Given the description of an element on the screen output the (x, y) to click on. 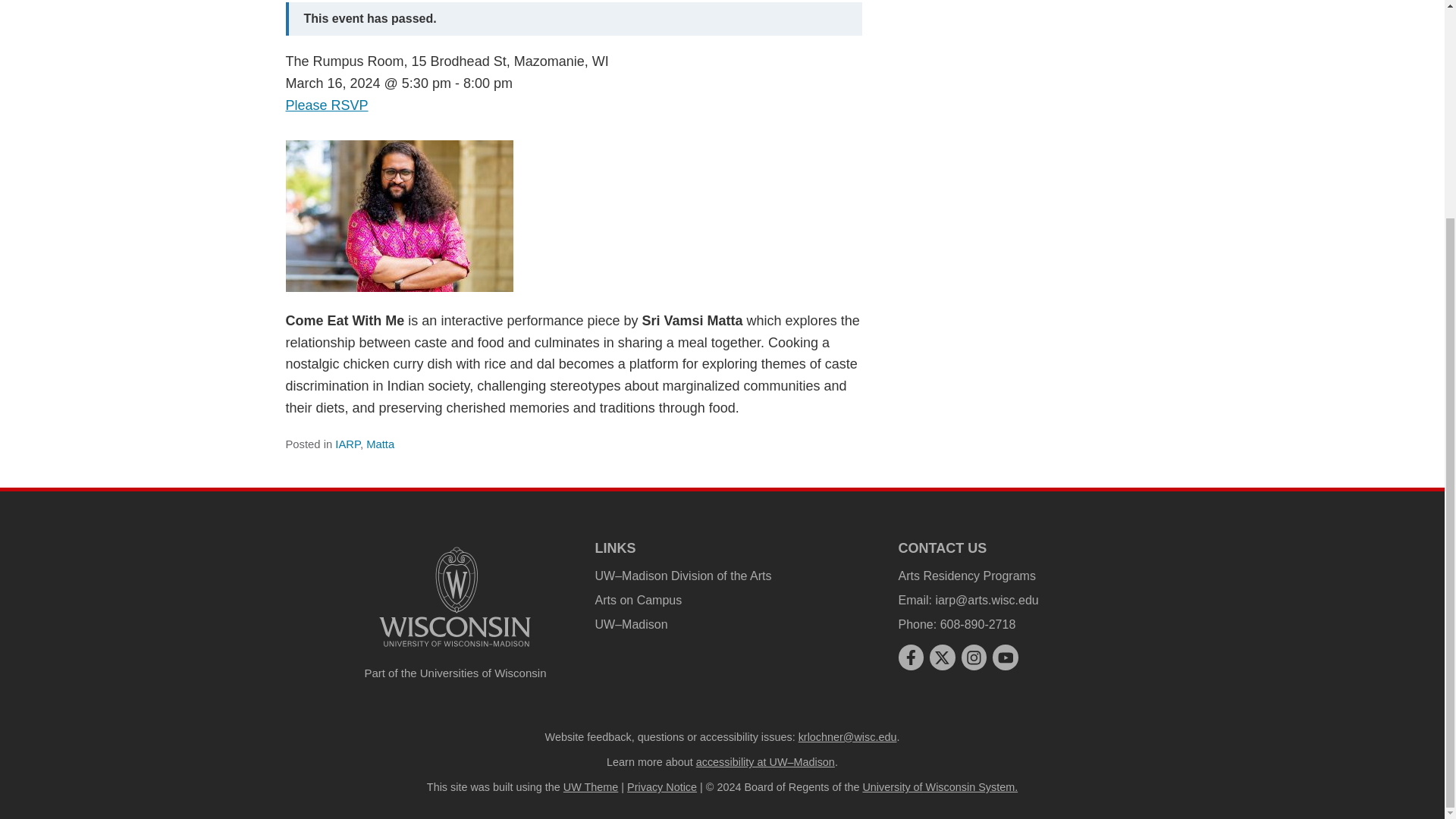
Privacy Notice (662, 787)
Matta (380, 444)
IARP (346, 444)
University logo that links to main university website (454, 649)
University logo that links to main university website (454, 596)
Please RSVP (326, 105)
facebook (910, 657)
youtube (1005, 657)
608-890-2718 (978, 624)
instagram (973, 657)
